Given the description of an element on the screen output the (x, y) to click on. 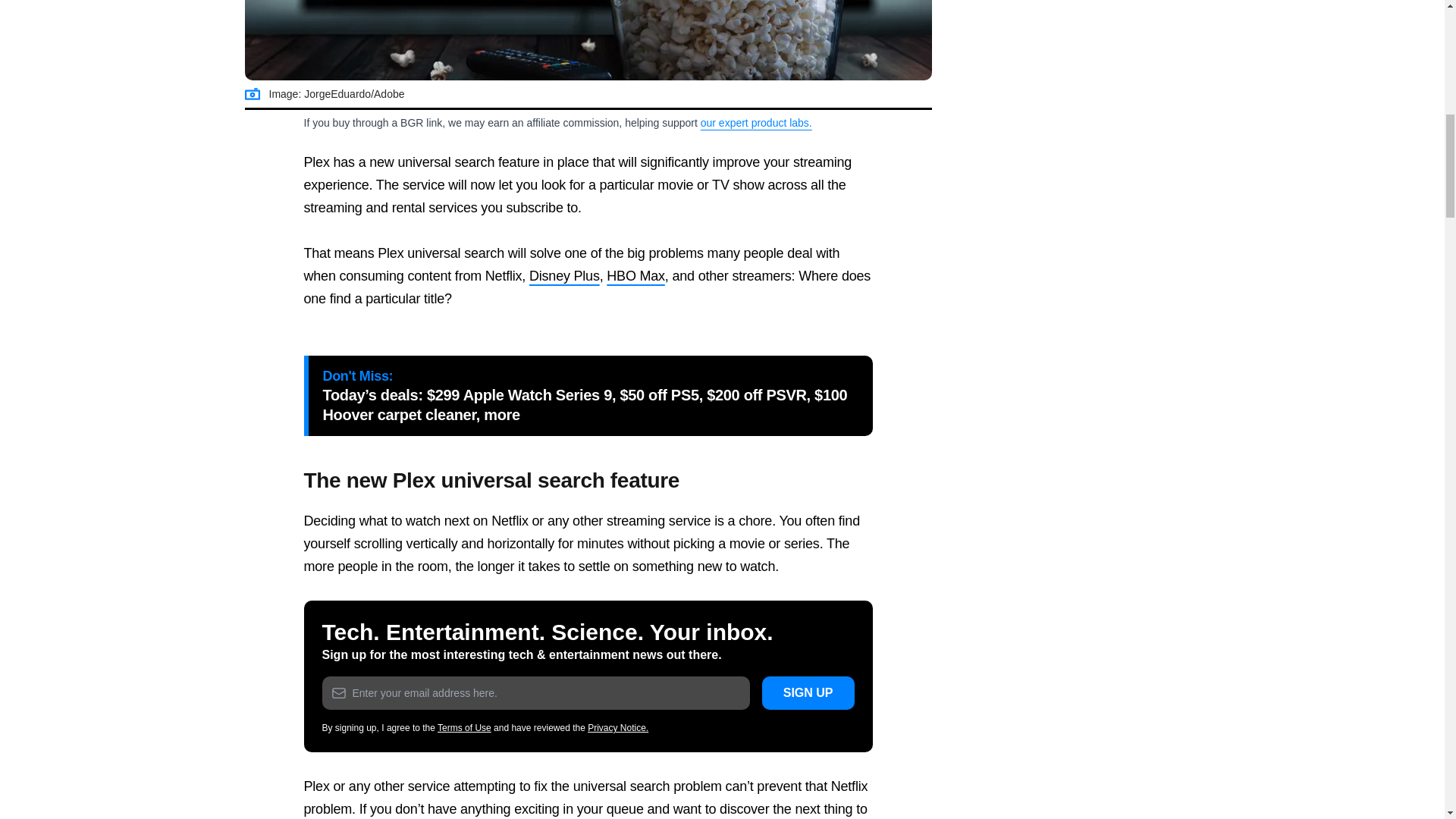
Plex Universal Search (587, 40)
